Given the description of an element on the screen output the (x, y) to click on. 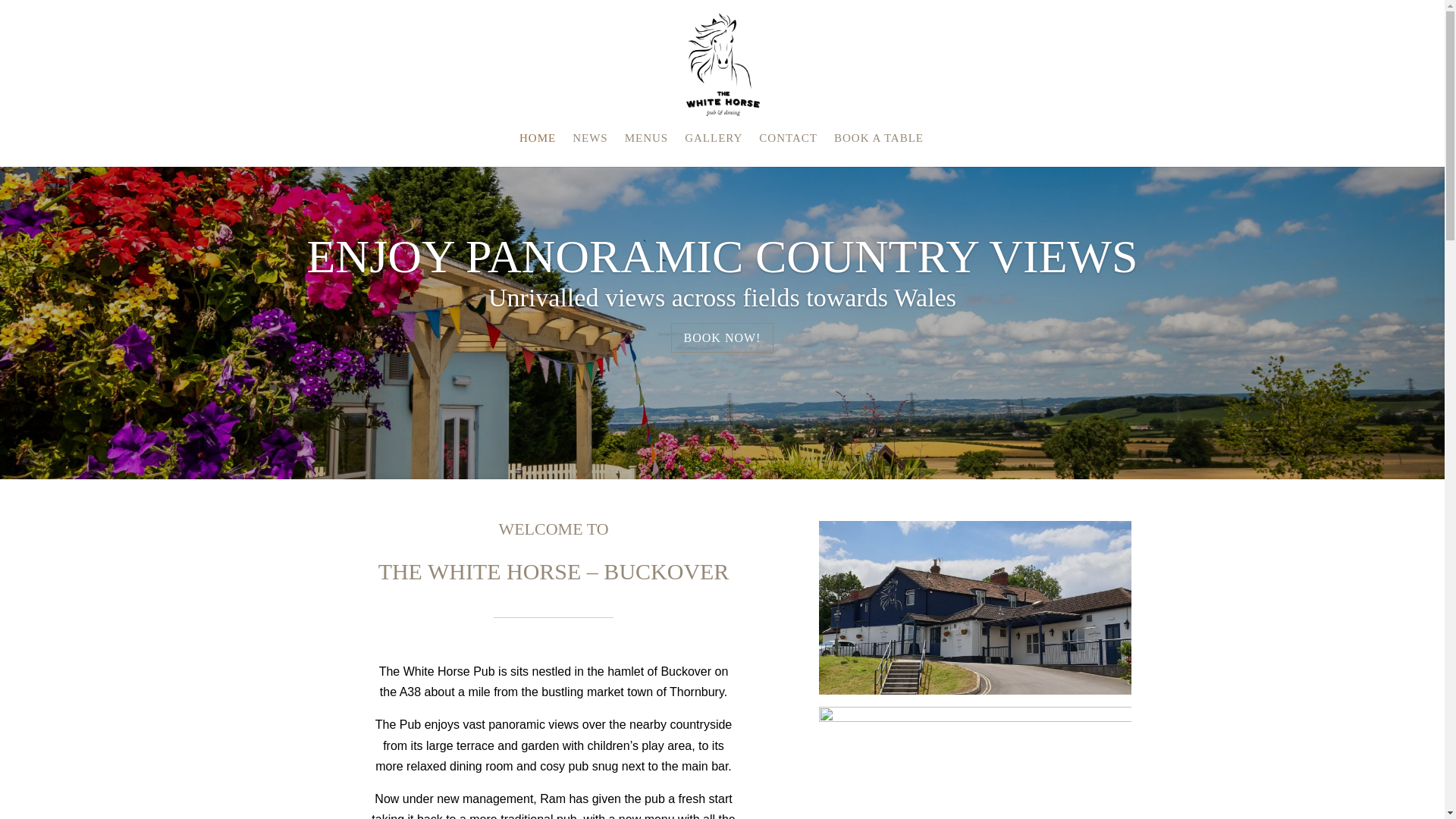
NEWS (590, 149)
BOOK A TABLE (878, 149)
MENUS (646, 149)
GALLERY (713, 149)
CONTACT (787, 149)
HOME (537, 149)
